Given the description of an element on the screen output the (x, y) to click on. 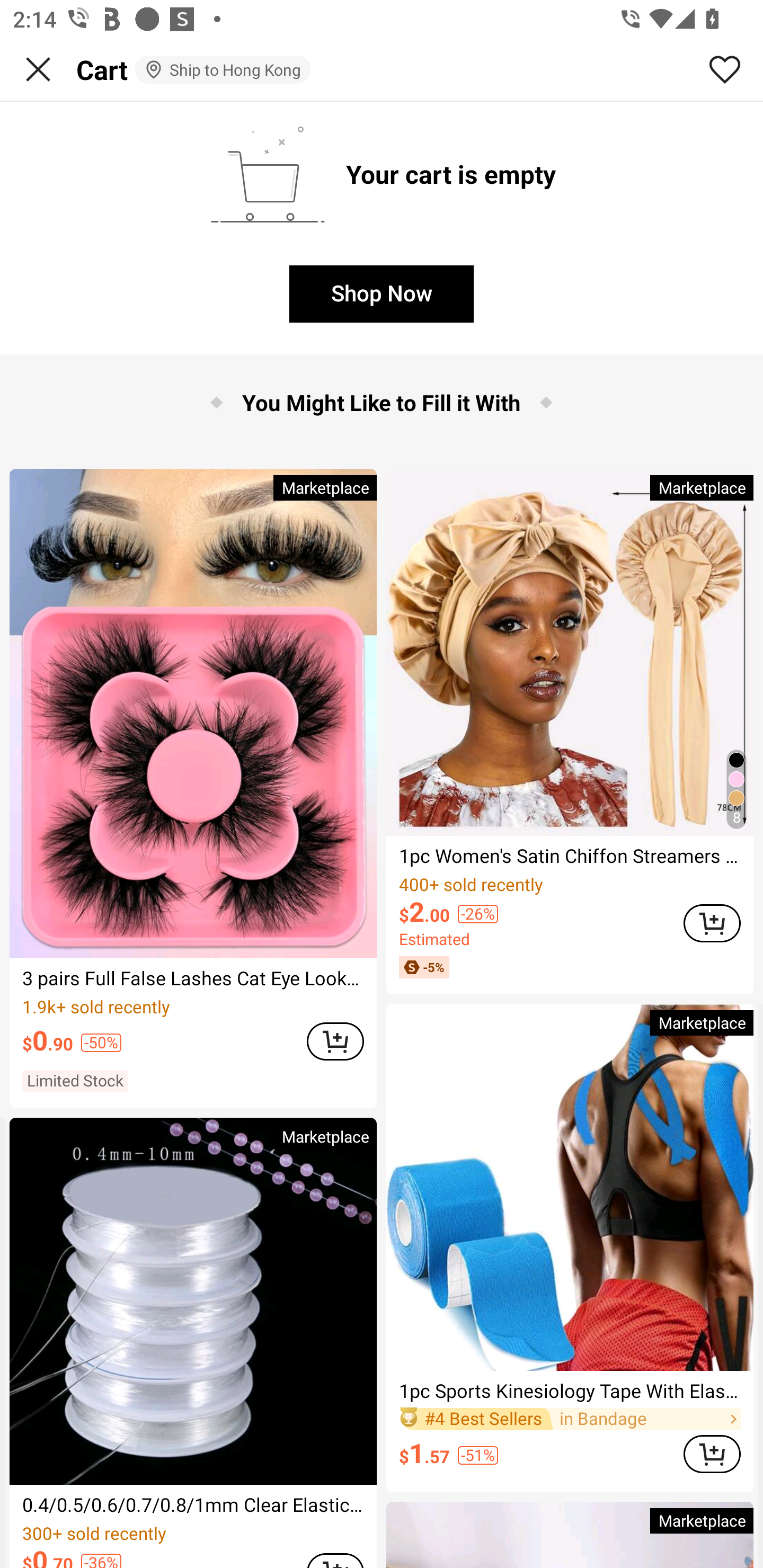
BACK Cart Ship to Hong Kong Wishlist (381, 69)
BACK (38, 68)
Wishlist (724, 68)
Ship to Hong Kong (222, 68)
Shop Now (381, 293)
ADD TO CART (711, 923)
ADD TO CART (334, 1040)
#4 Best Sellers in Bandage (569, 1418)
ADD TO CART (711, 1453)
